Given the description of an element on the screen output the (x, y) to click on. 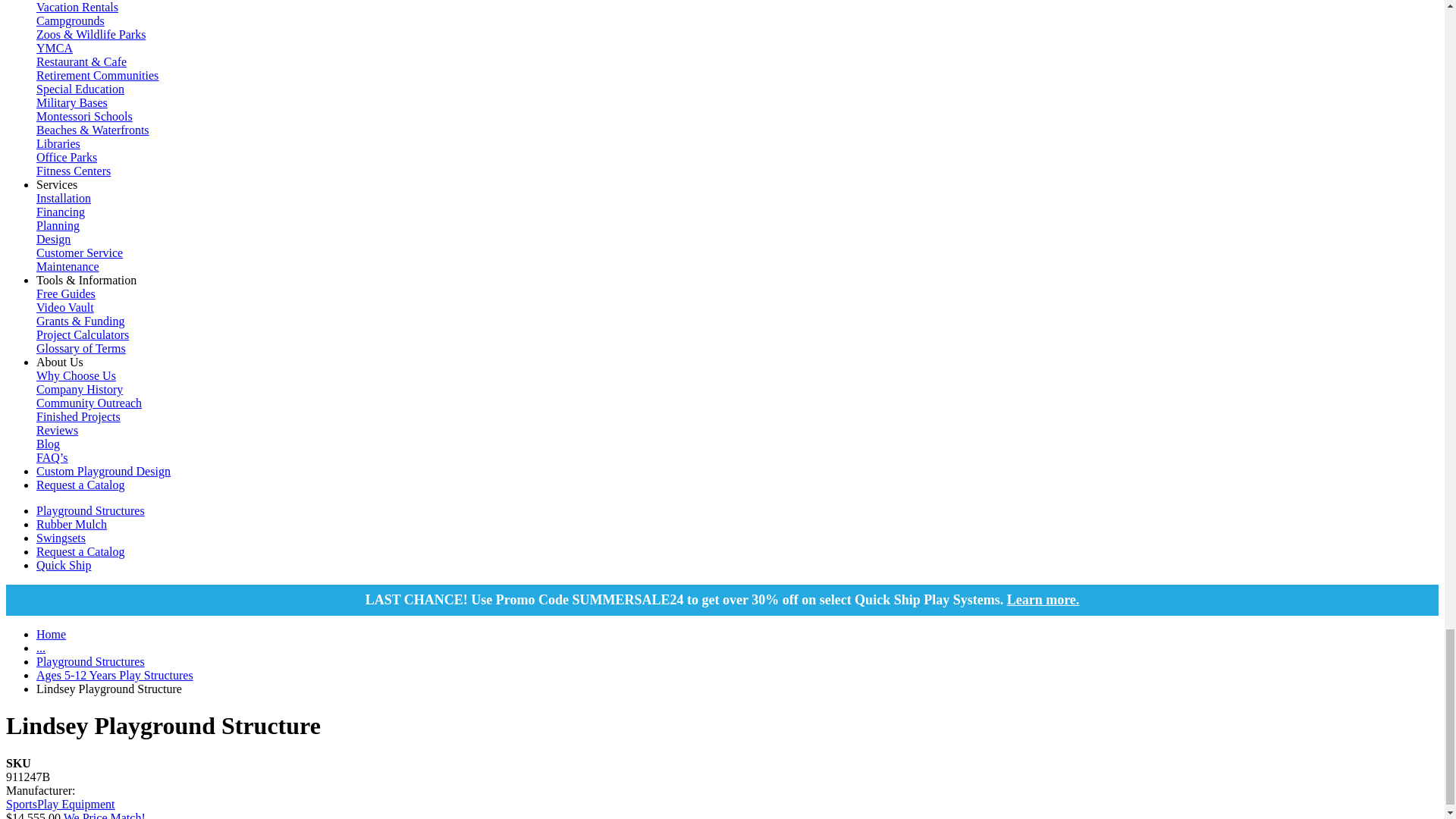
view all SportsPlay Equipment products (60, 803)
